Given the description of an element on the screen output the (x, y) to click on. 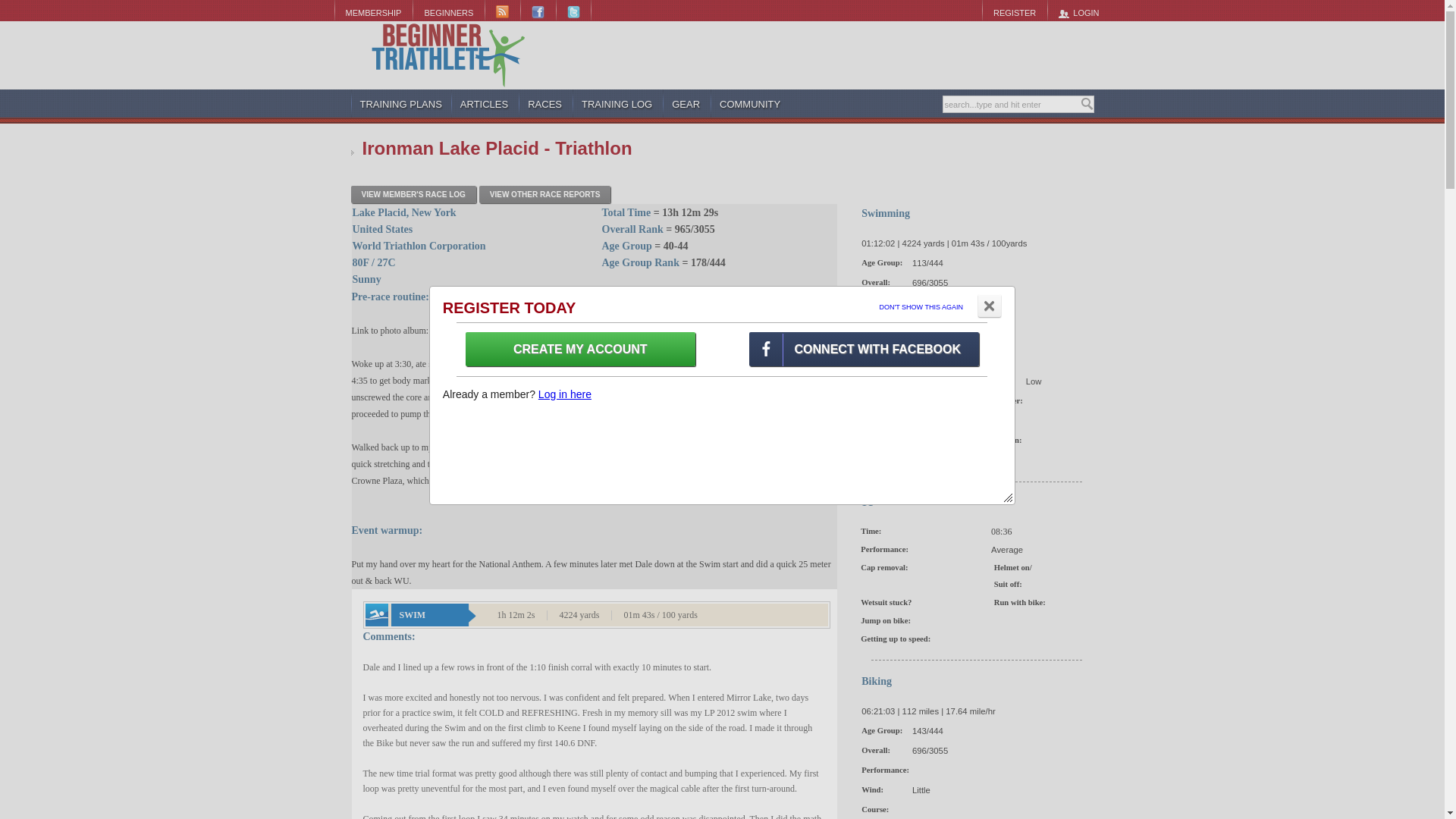
3rd party ad content (838, 55)
LOGIN (1077, 12)
search...type and hit enter (1010, 104)
RACES (545, 104)
ARTICLES (484, 104)
REGISTER (1013, 12)
BEGINNERS (448, 12)
TRAINING PLANS (400, 104)
MEMBERSHIP (372, 12)
TRAINING LOG (616, 104)
